Given the description of an element on the screen output the (x, y) to click on. 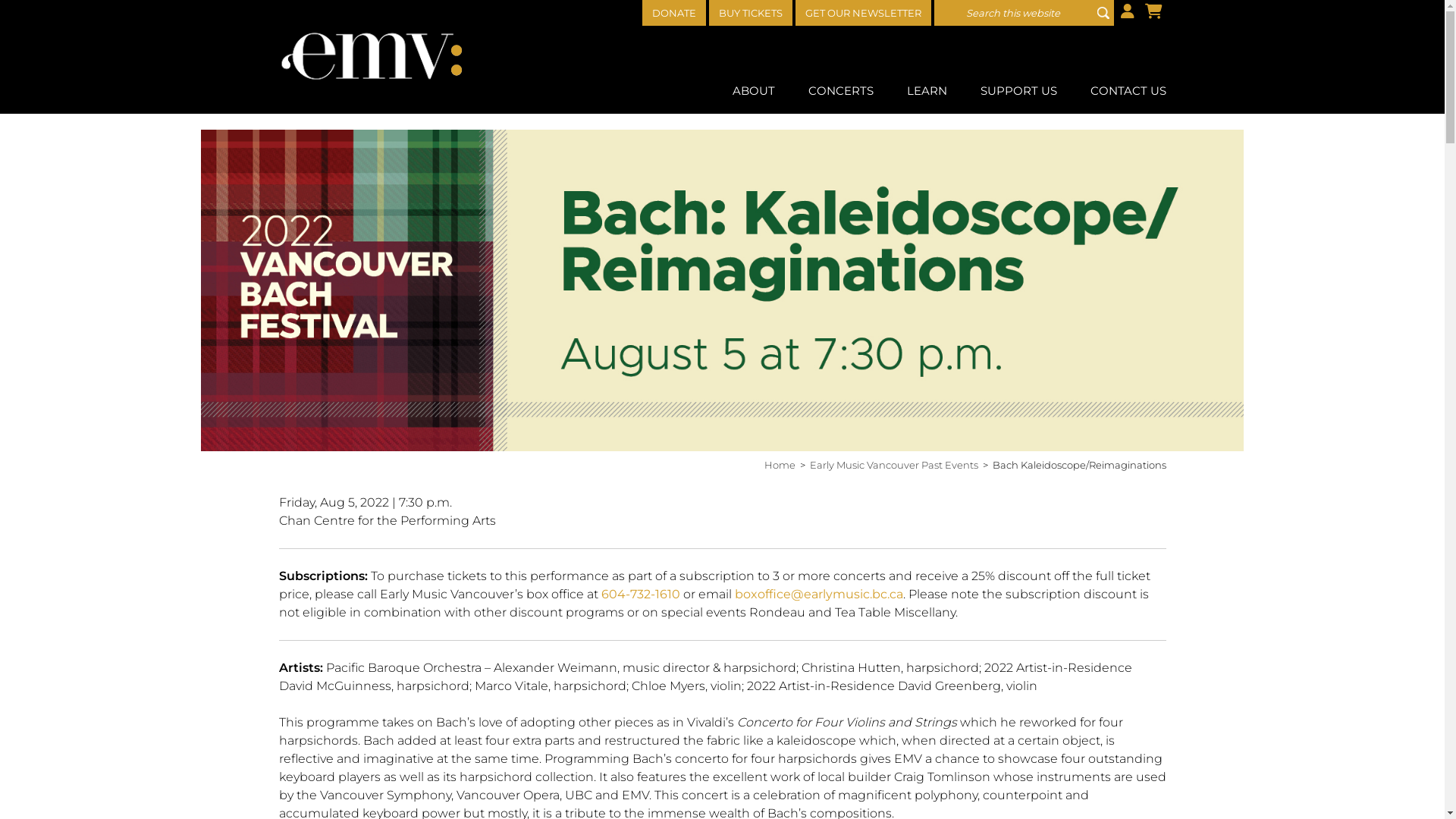
Home Element type: text (779, 464)
CONCERTS Element type: text (839, 90)
SUPPORT US Element type: text (1018, 90)
604-732-1610 Element type: text (639, 593)
boxoffice@earlymusic.bc.ca Element type: text (818, 593)
GET OUR NEWSLETTER Element type: text (862, 12)
DONATE Element type: text (673, 12)
Search Element type: text (1102, 12)
CONTACT US Element type: text (1125, 90)
LEARN Element type: text (926, 90)
Early Music Vancouver Element type: hover (373, 54)
Early Music Vancouver Past Events Element type: text (893, 464)
ABOUT Element type: text (753, 90)
BUY TICKETS Element type: text (749, 12)
